Given the description of an element on the screen output the (x, y) to click on. 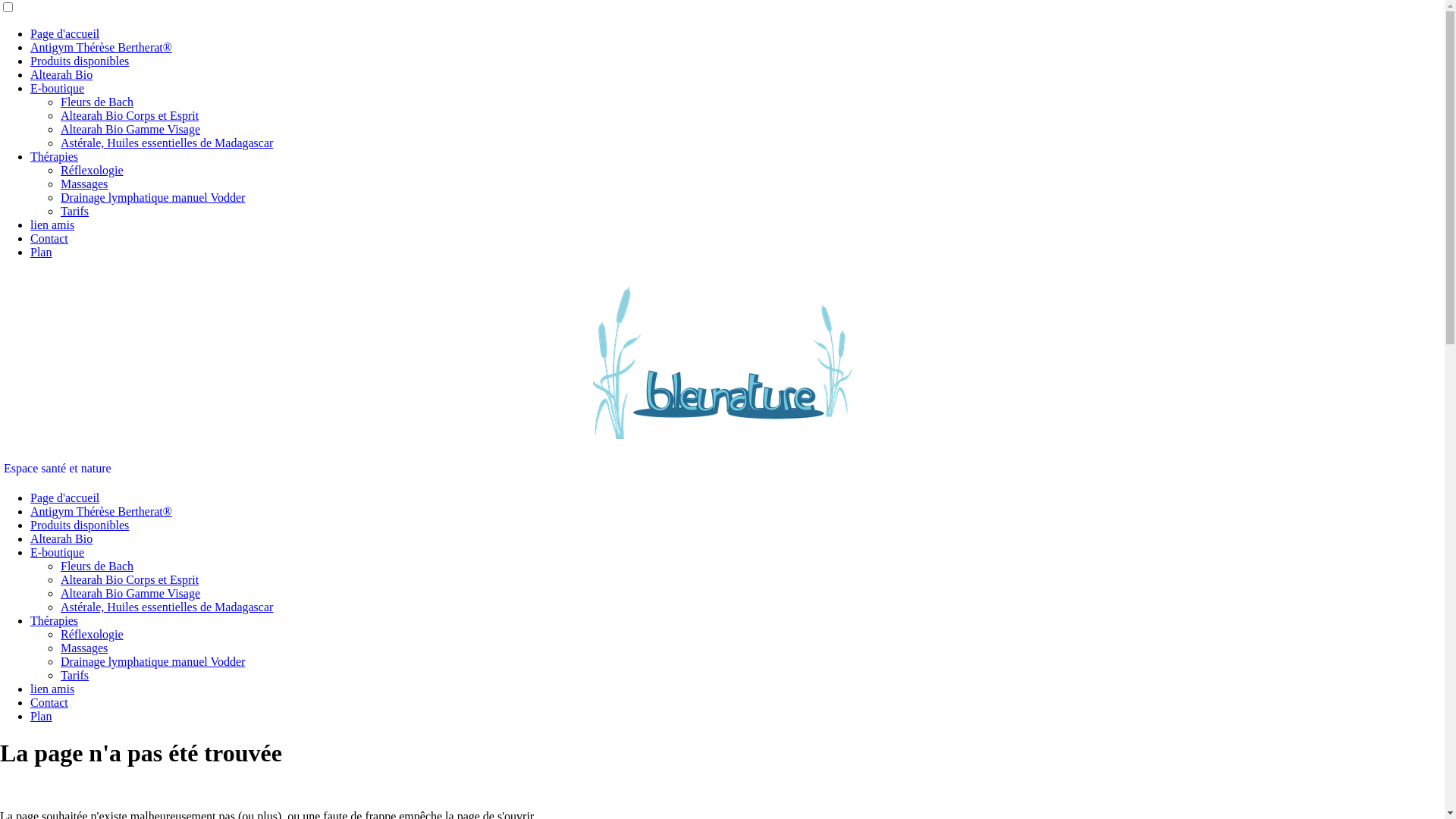
Massages Element type: text (83, 647)
Drainage lymphatique manuel Vodder Element type: text (152, 197)
Drainage lymphatique manuel Vodder Element type: text (152, 661)
Plan Element type: text (40, 715)
Page d'accueil Element type: text (64, 497)
lien amis Element type: text (52, 224)
E-boutique Element type: text (57, 87)
Altearah Bio Gamme Visage Element type: text (130, 128)
Tarifs Element type: text (74, 674)
Contact Element type: text (49, 238)
Tarifs Element type: text (74, 210)
Altearah Bio Corps et Esprit Element type: text (129, 579)
lien amis Element type: text (52, 688)
Contact Element type: text (49, 702)
Fleurs de Bach Element type: text (96, 565)
Altearah Bio Corps et Esprit Element type: text (129, 115)
Fleurs de Bach Element type: text (96, 101)
Produits disponibles Element type: text (79, 60)
Page d'accueil Element type: text (64, 33)
Altearah Bio Element type: text (61, 74)
Altearah Bio Gamme Visage Element type: text (130, 592)
E-boutique Element type: text (57, 552)
Massages Element type: text (83, 183)
Plan Element type: text (40, 251)
Produits disponibles Element type: text (79, 524)
Altearah Bio Element type: text (61, 538)
